Given the description of an element on the screen output the (x, y) to click on. 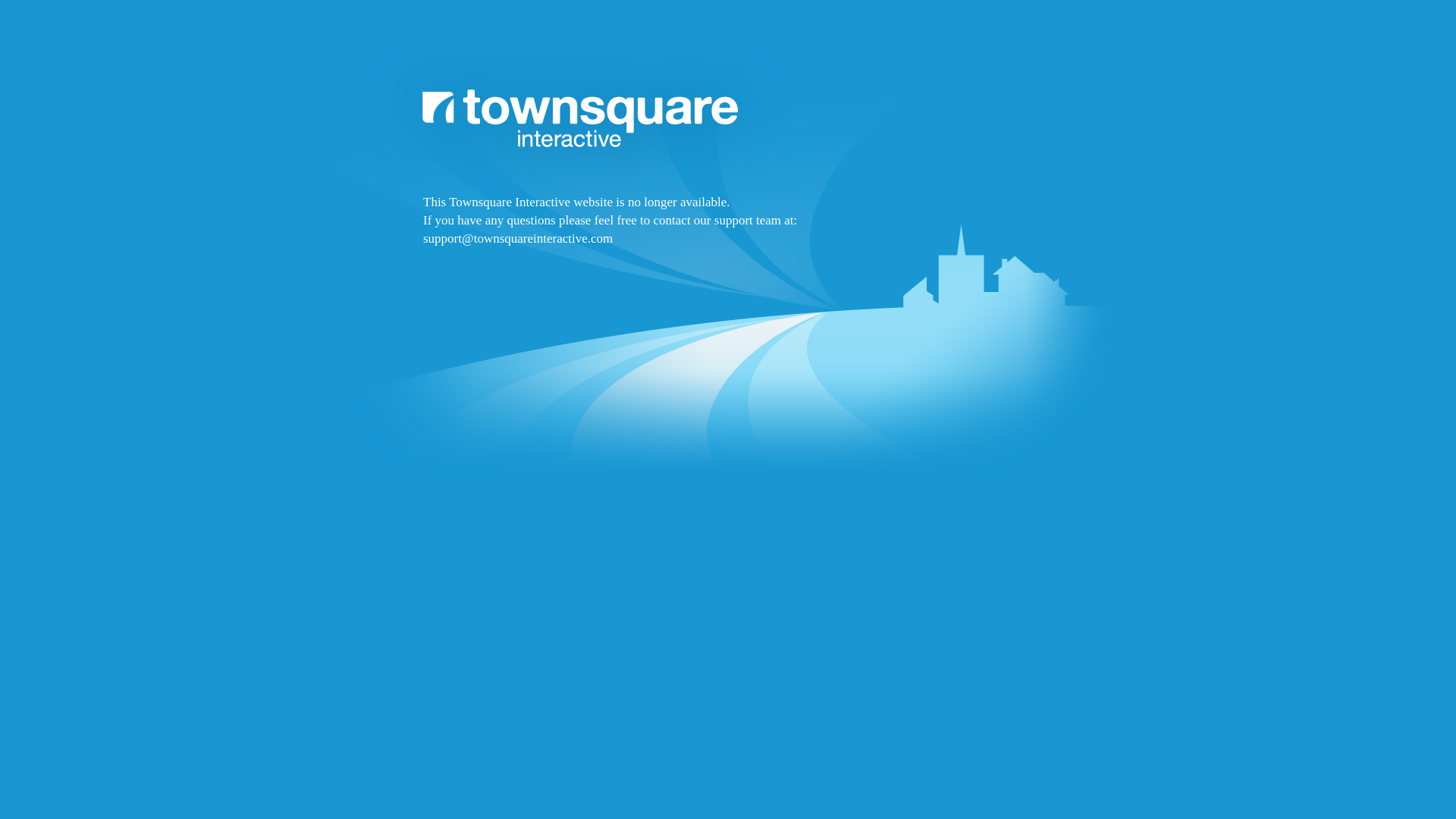
Townsquare Interactive Element type: hover (727, 297)
